Given the description of an element on the screen output the (x, y) to click on. 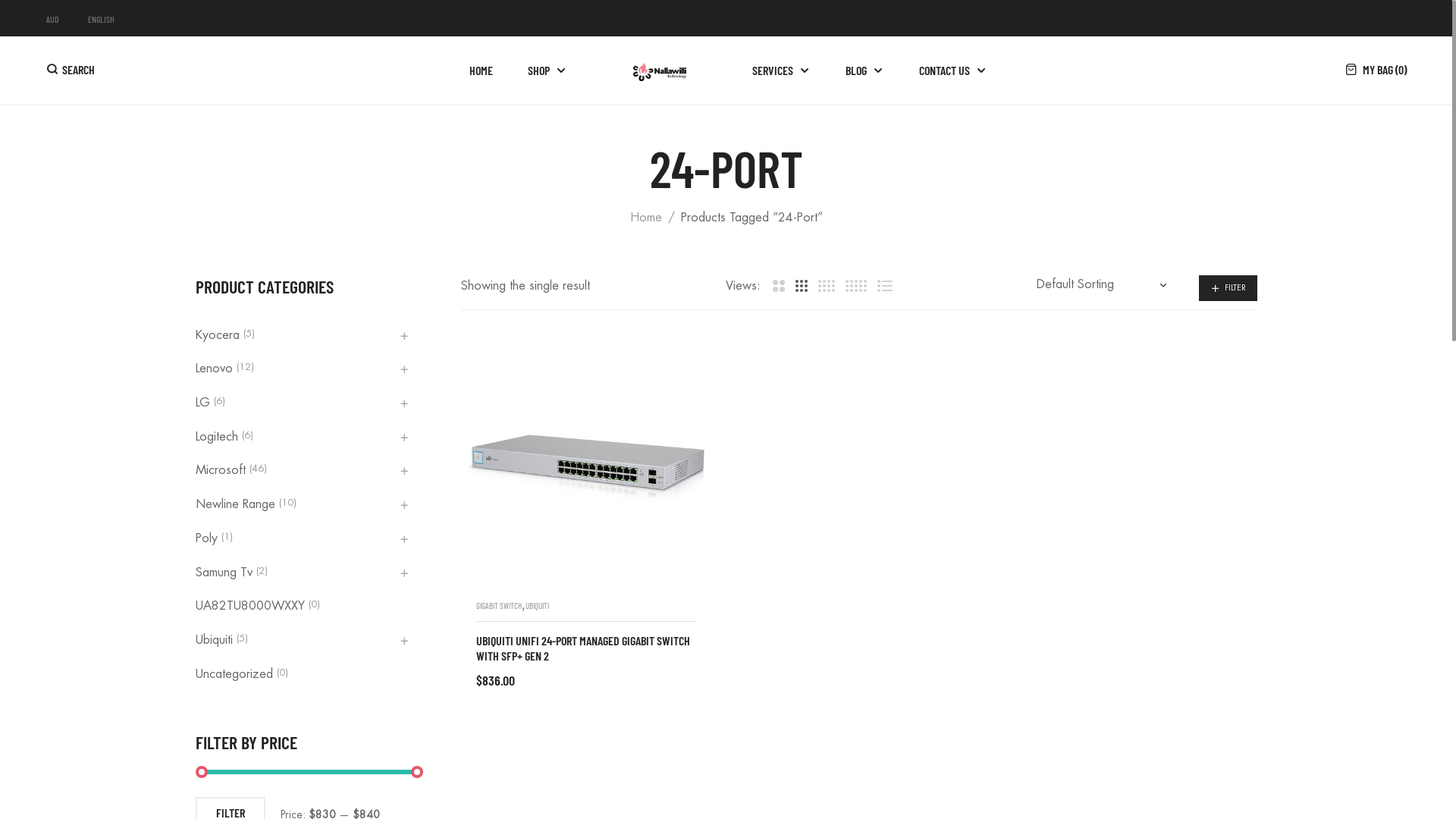
Samung Tv Element type: text (225, 572)
FILTER Element type: text (1227, 288)
MY BAG (0) Element type: text (1375, 70)
GIGABIT SWITCH Element type: text (498, 605)
Ubiquiti Element type: text (215, 640)
CONTACT US Element type: text (944, 70)
SERVICES Element type: text (781, 70)
Kyocera Element type: text (219, 335)
LG Element type: text (204, 403)
UA82TU8000WXXY Element type: text (251, 606)
Home Element type: text (654, 218)
Uncategorized Element type: text (235, 674)
Microsoft Element type: text (222, 470)
Logitech Element type: text (218, 437)
BLOG Element type: text (864, 70)
ENGLISH Element type: text (100, 18)
HOME Element type: text (480, 70)
Nallawilli Technology Element type: hover (659, 70)
Lenovo Element type: text (215, 368)
Poly Element type: text (208, 538)
AUD Element type: text (51, 18)
UBIQUITI Element type: text (536, 605)
SHOP Element type: text (547, 70)
Newline Range Element type: text (237, 504)
